Given the description of an element on the screen output the (x, y) to click on. 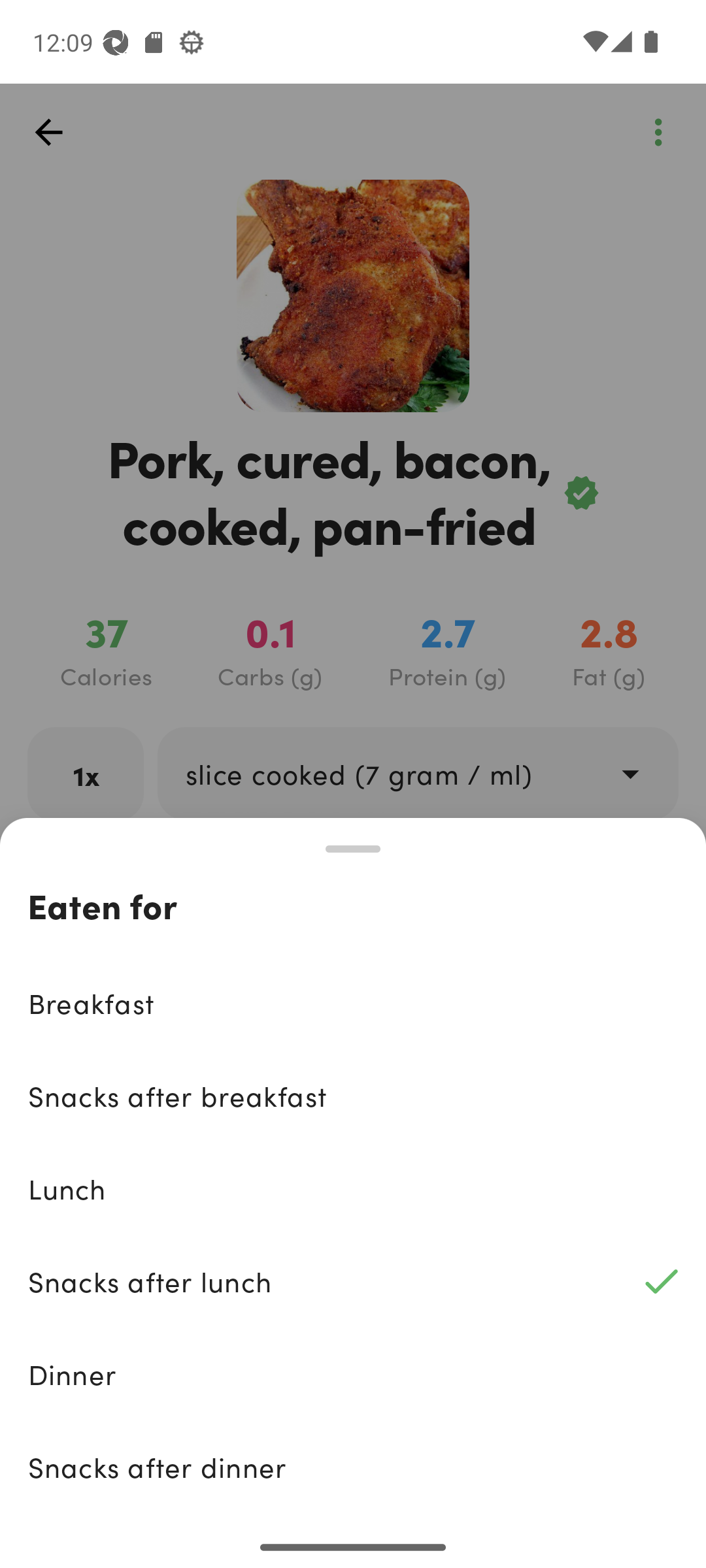
bottom_sheet_option Lunch bottom_sheet_option_text (353, 1188)
